Given the description of an element on the screen output the (x, y) to click on. 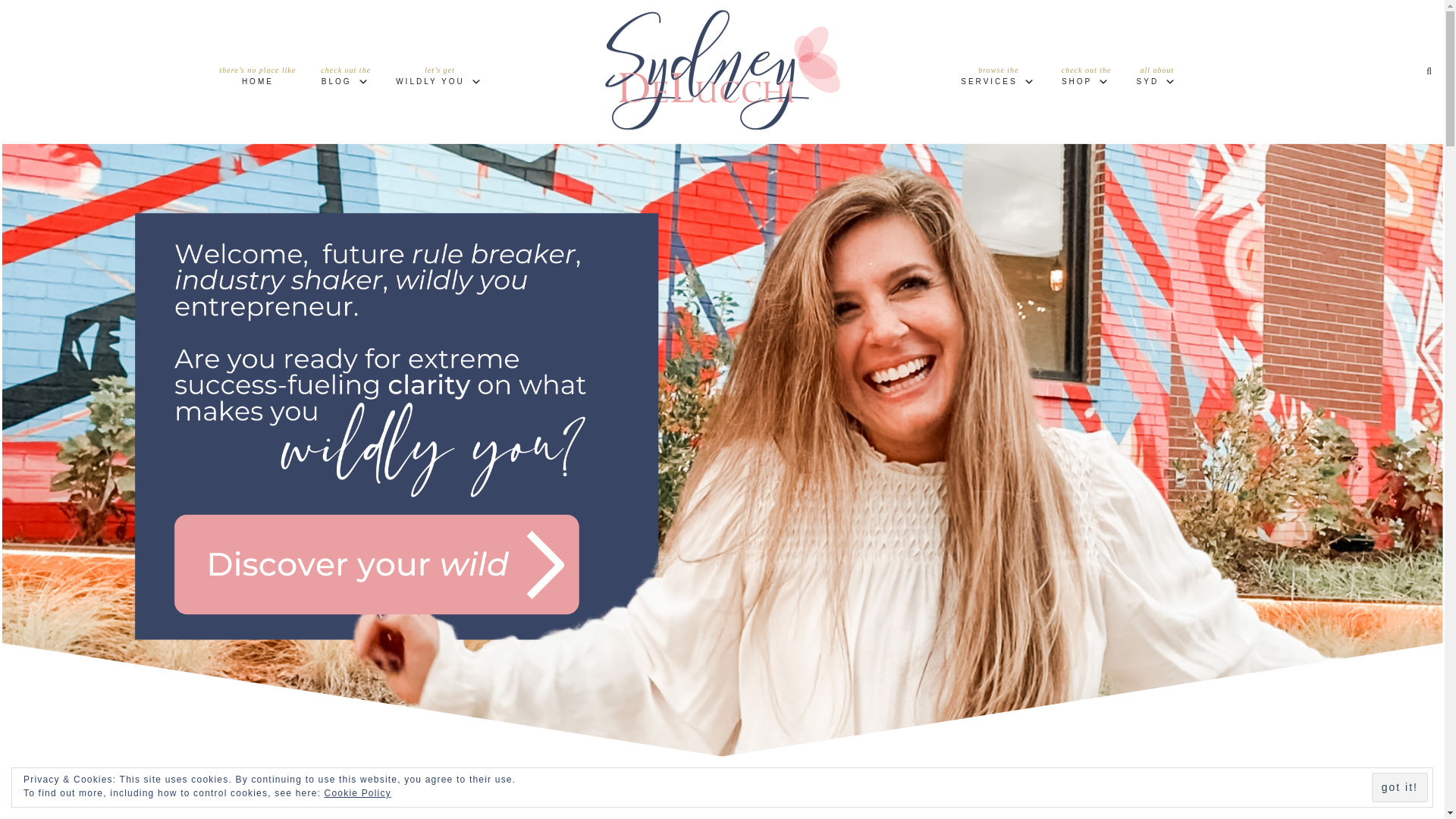
SydneyDeLucchi.com (722, 66)
got it! (1086, 78)
